Given the description of an element on the screen output the (x, y) to click on. 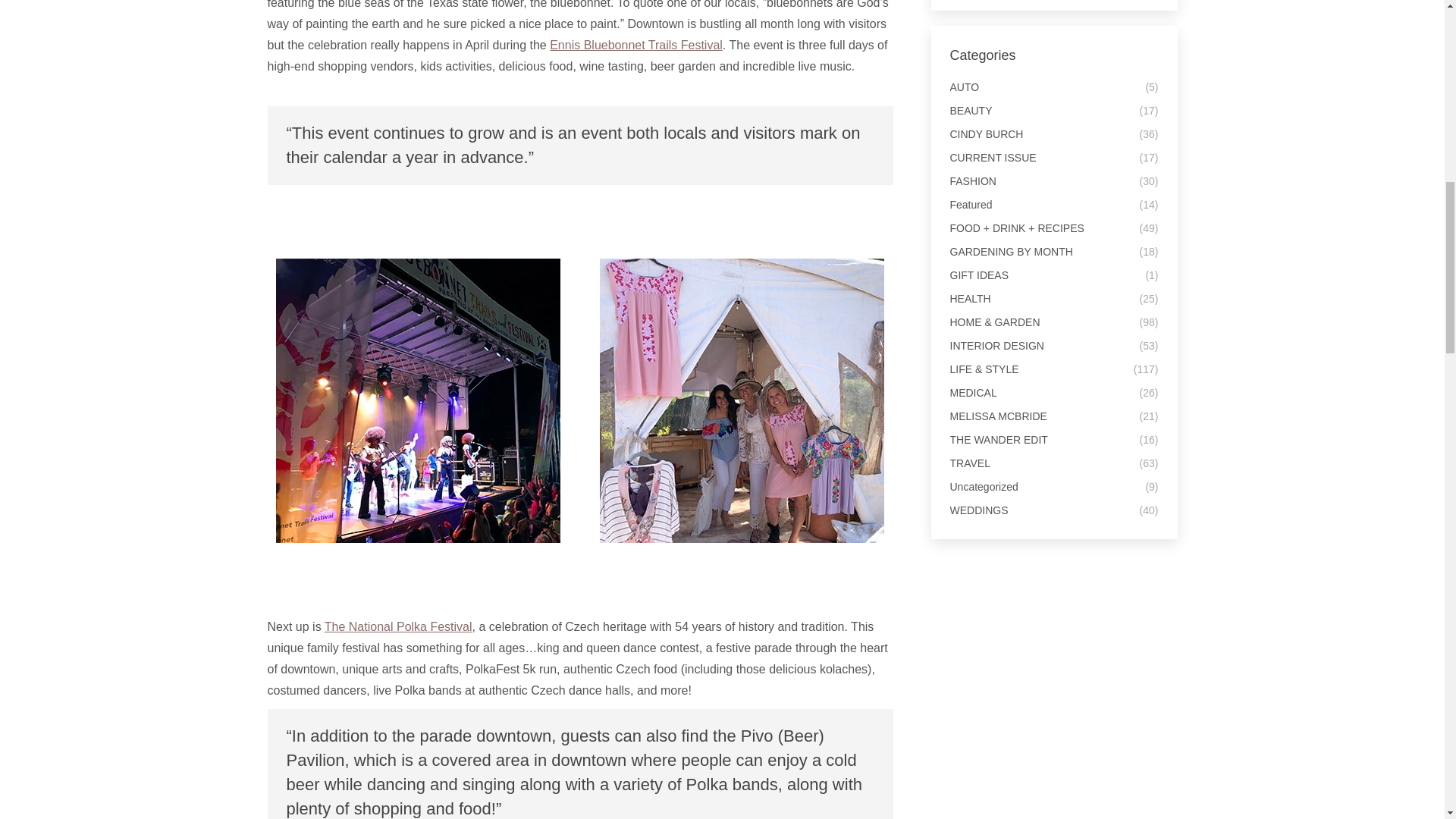
Ennis festival shopping (741, 399)
The National Polka Festival (397, 626)
Ennis Bluebonnet Trails Festival (636, 43)
Ennis festival live music (418, 399)
